Given the description of an element on the screen output the (x, y) to click on. 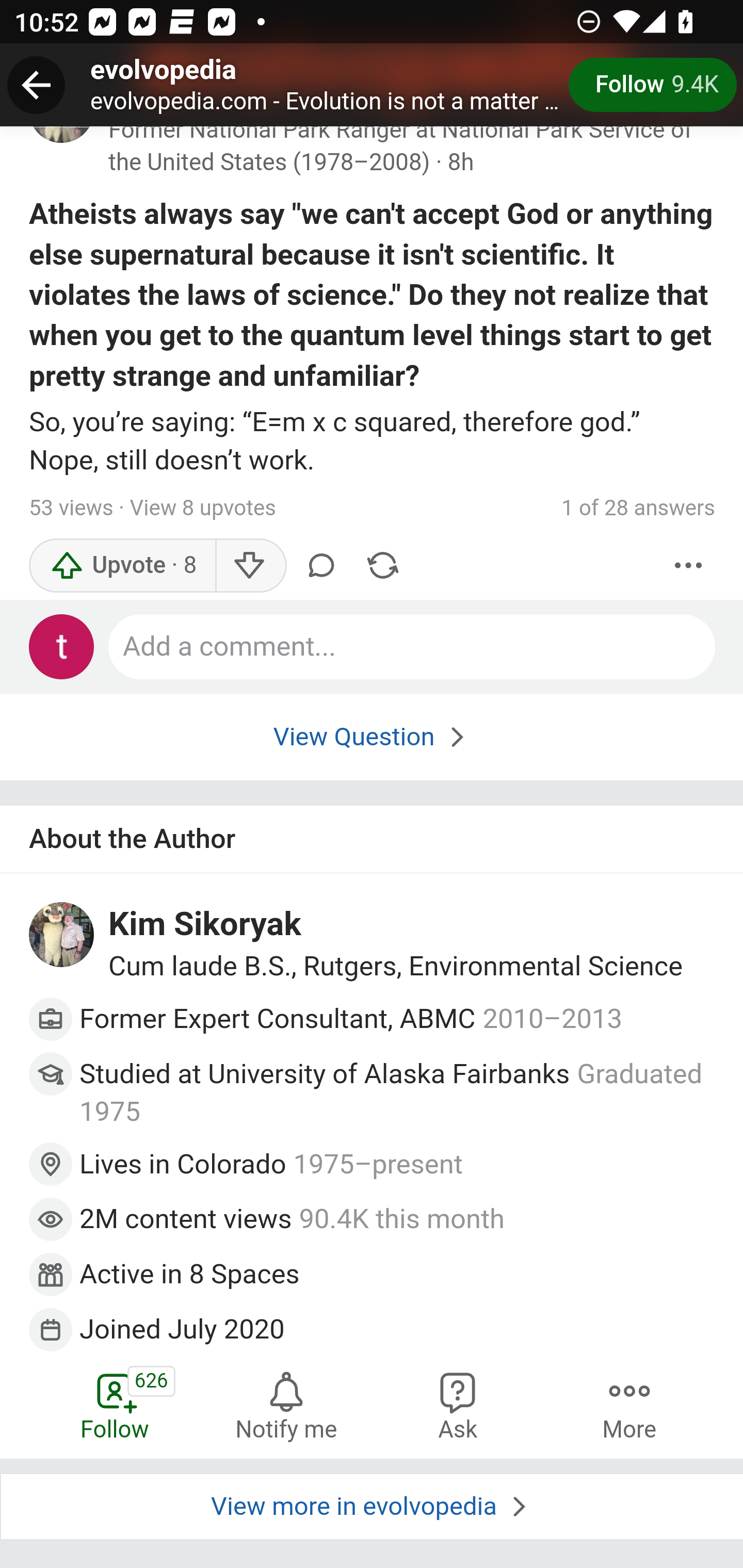
evolvopedia (164, 70)
Follow 9.4K (652, 85)
View 8 upvotes (201, 508)
1 of 28 answers (637, 508)
Upvote (122, 565)
Downvote (249, 565)
Comment (321, 565)
Share (382, 565)
More (688, 565)
Profile photo for Test Appium (61, 646)
Add a comment... (412, 646)
View Question (371, 736)
Profile photo for Kim Sikoryak (61, 936)
Kim Sikoryak (204, 926)
Follow Kim Sikoryak 626 Follow (115, 1404)
Notify me (285, 1404)
Ask (458, 1404)
More (628, 1404)
View more in evolvopedia (371, 1506)
